Given the description of an element on the screen output the (x, y) to click on. 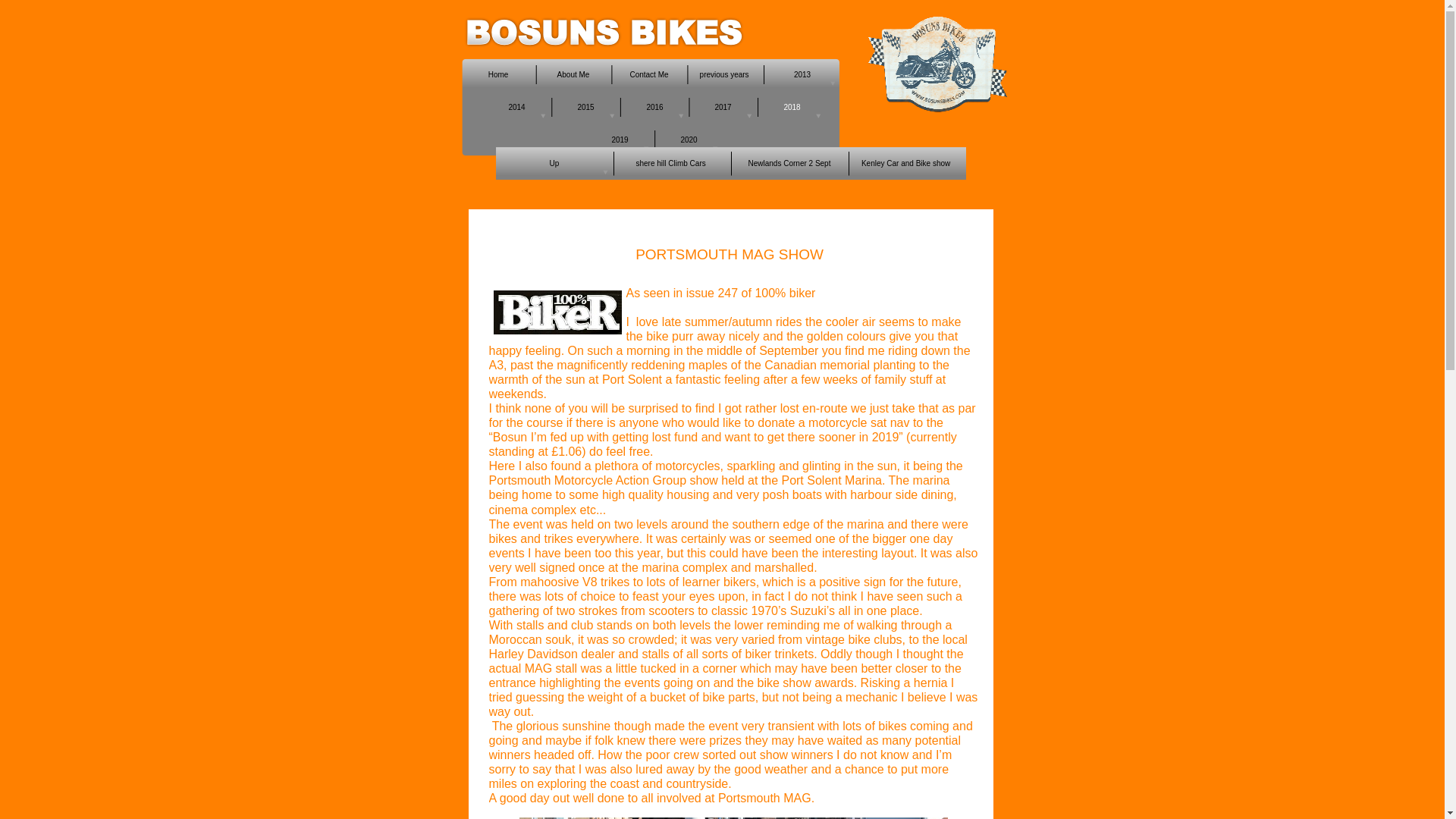
2017 (723, 107)
shere hill Climb Cars  (671, 163)
Contact Me (648, 74)
Home (497, 74)
Newlands Corner 2 Sept (788, 163)
2016 (654, 107)
Up (553, 163)
2014 (516, 107)
Kenley Car and Bike show  (906, 163)
About Me (573, 74)
